Given the description of an element on the screen output the (x, y) to click on. 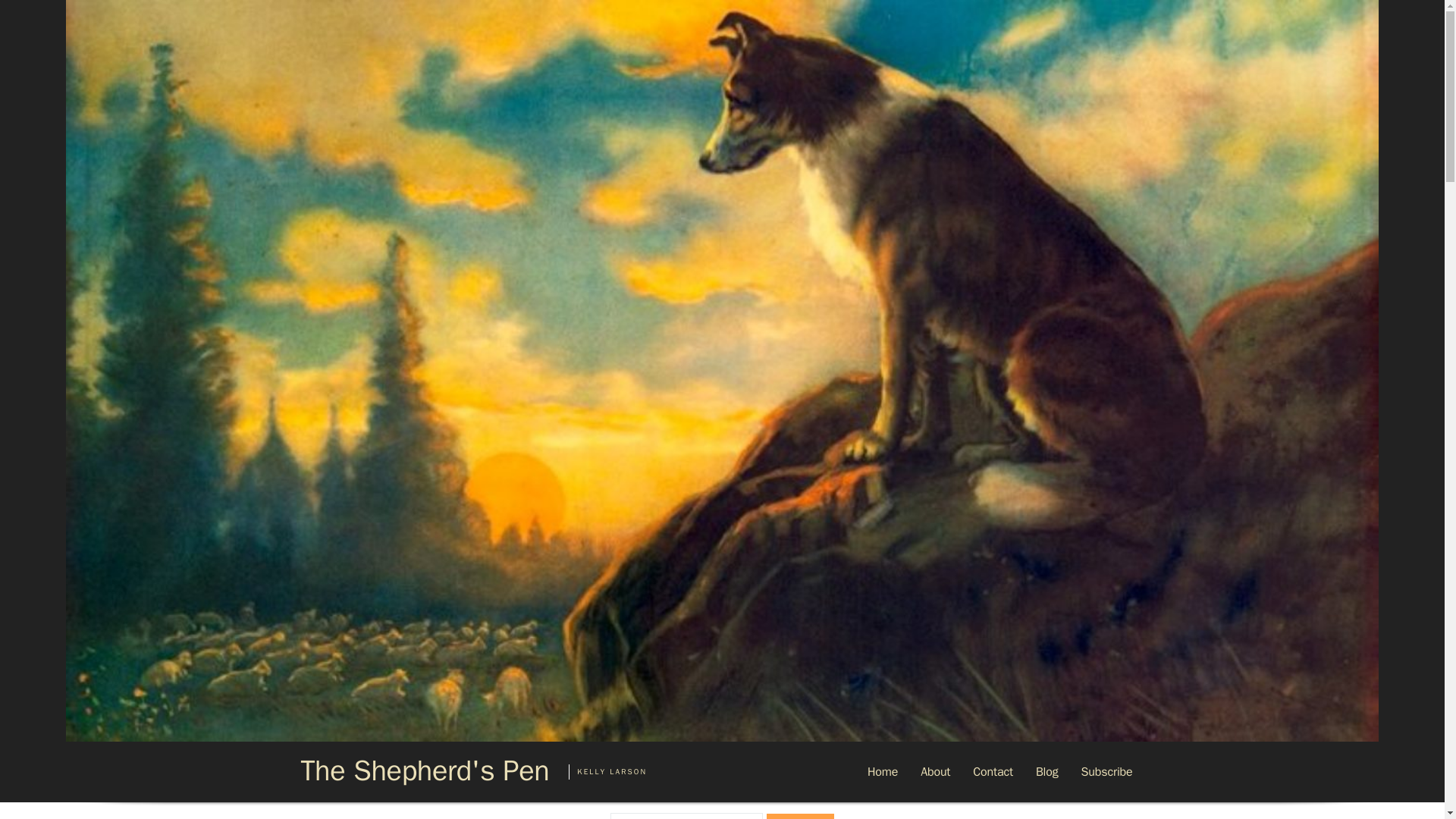
Home (882, 771)
Search (800, 816)
Search (800, 816)
Search (800, 816)
The Shepherd's Pen (423, 770)
Contact (992, 771)
Subscribe (1107, 771)
Blog (1047, 771)
About (934, 771)
